Given the description of an element on the screen output the (x, y) to click on. 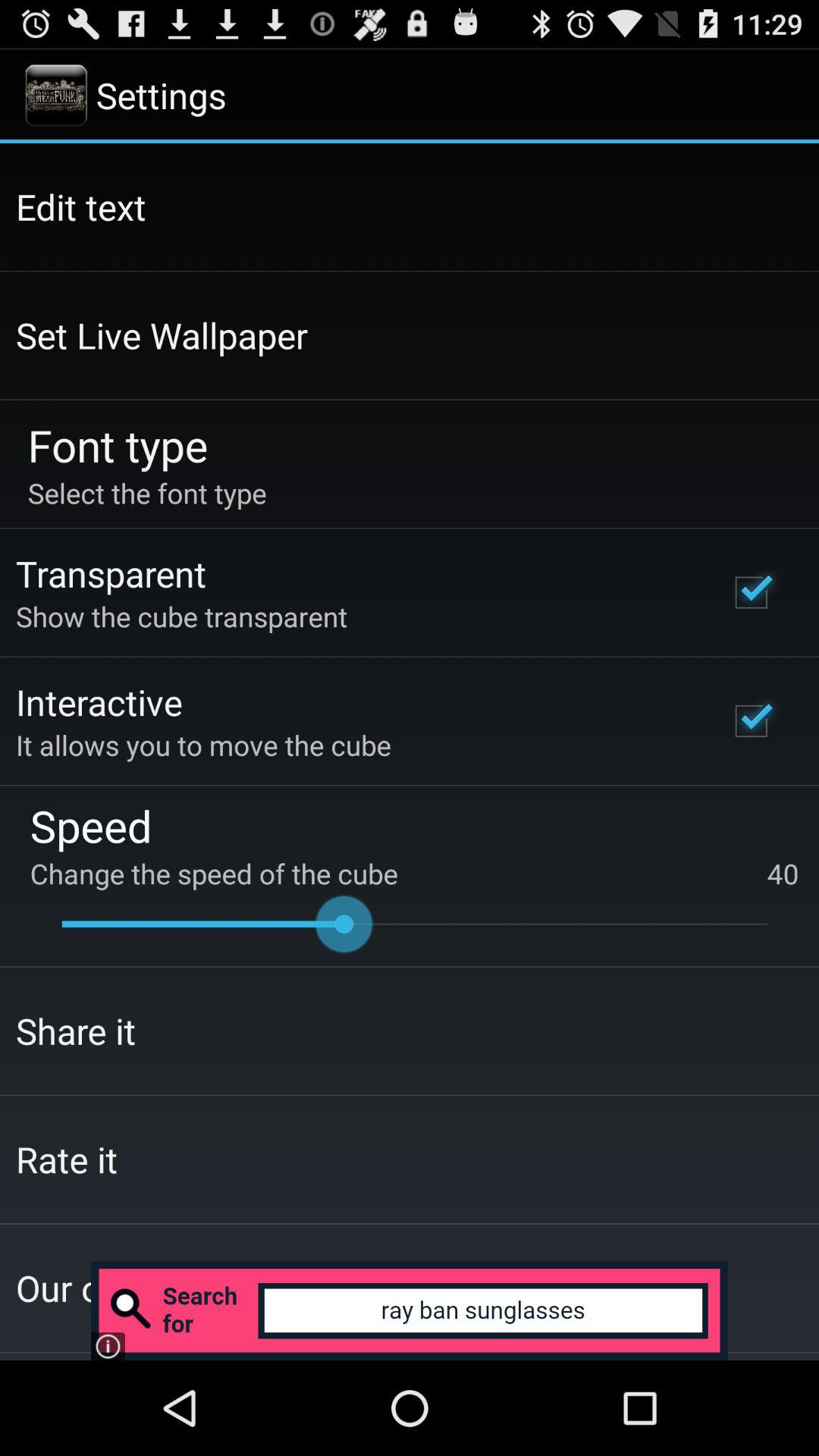
scroll to select the font app (146, 492)
